Given the description of an element on the screen output the (x, y) to click on. 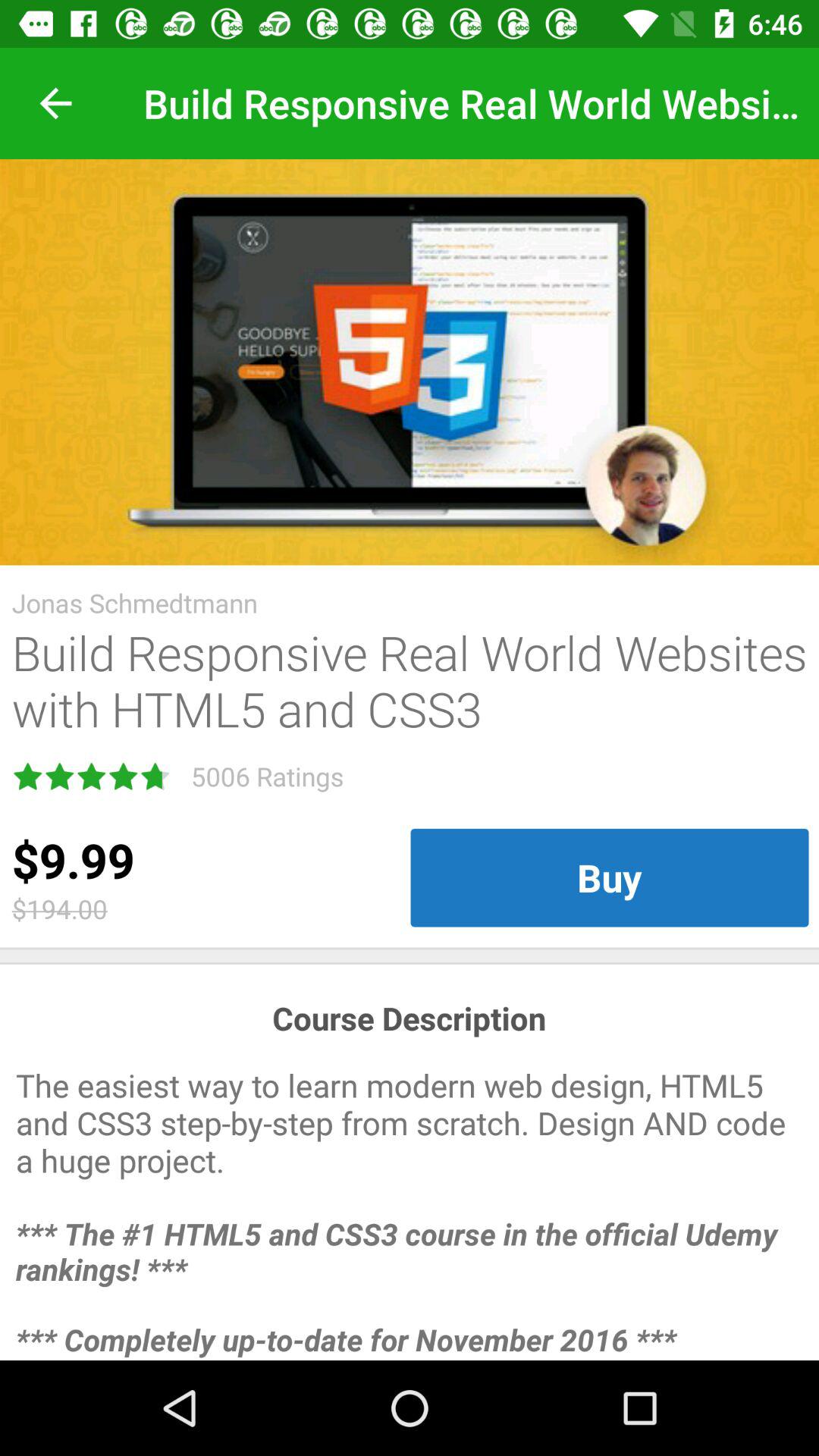
select icon next to build responsive real item (55, 103)
